Given the description of an element on the screen output the (x, y) to click on. 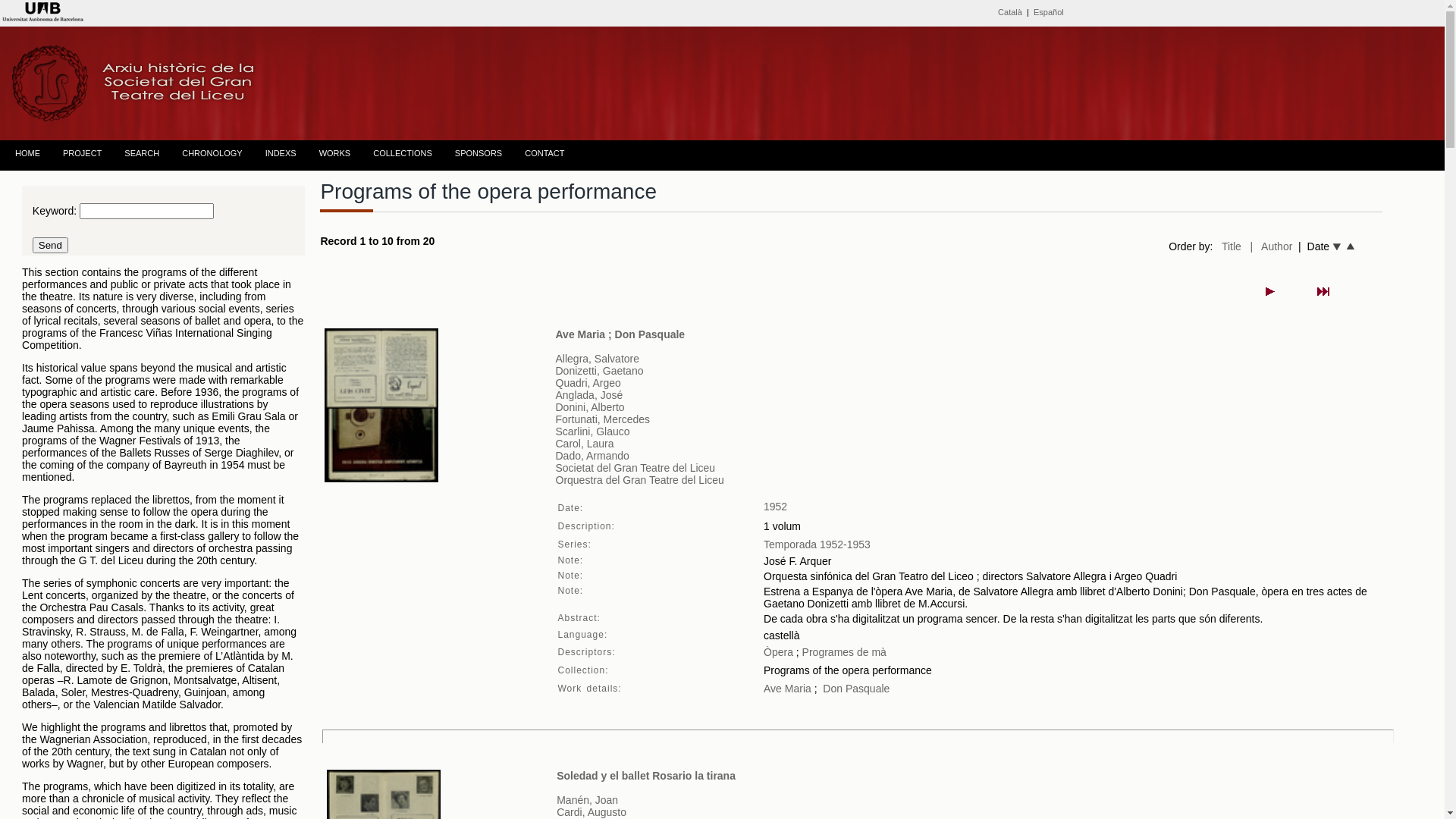
Scarlini, Glauco Element type: text (592, 431)
Temporada 1952-1953 Element type: text (816, 544)
INDEXS Element type: text (277, 153)
Soledad y el ballet Rosario la tirana Element type: text (645, 775)
Ave Maria Element type: text (787, 688)
CHRONOLOGY Element type: text (207, 153)
Carol, Laura Element type: text (584, 443)
WORKS Element type: text (331, 153)
Next page Element type: hover (1269, 291)
Cardi, Augusto Element type: text (591, 812)
Donini, Alberto Element type: text (589, 407)
Societat del Gran Teatre del Liceu Element type: text (635, 467)
Dado, Armando Element type: text (591, 455)
Send Element type: text (50, 245)
Ave Maria ; Don Pasquale Element type: text (619, 334)
Allegra, Salvatore Element type: text (597, 358)
Title Element type: text (1231, 246)
1952 Element type: text (775, 506)
Quadri, Argeo Element type: text (587, 382)
HOME Element type: text (23, 153)
Don Pasquale Element type: text (855, 688)
SEARCH Element type: text (137, 153)
Orquestra del Gran Teatre del Liceu Element type: text (639, 479)
Donizetti, Gaetano Element type: text (599, 370)
PROJECT Element type: text (78, 153)
Last page Element type: hover (1323, 291)
COLLECTIONS Element type: text (398, 153)
|   Author Element type: text (1271, 246)
Fortunati, Mercedes Element type: text (602, 419)
ascendent Element type: hover (1336, 246)
SPONSORS Element type: text (474, 153)
CONTACT Element type: text (540, 153)
descendent Element type: hover (1350, 246)
